Given the description of an element on the screen output the (x, y) to click on. 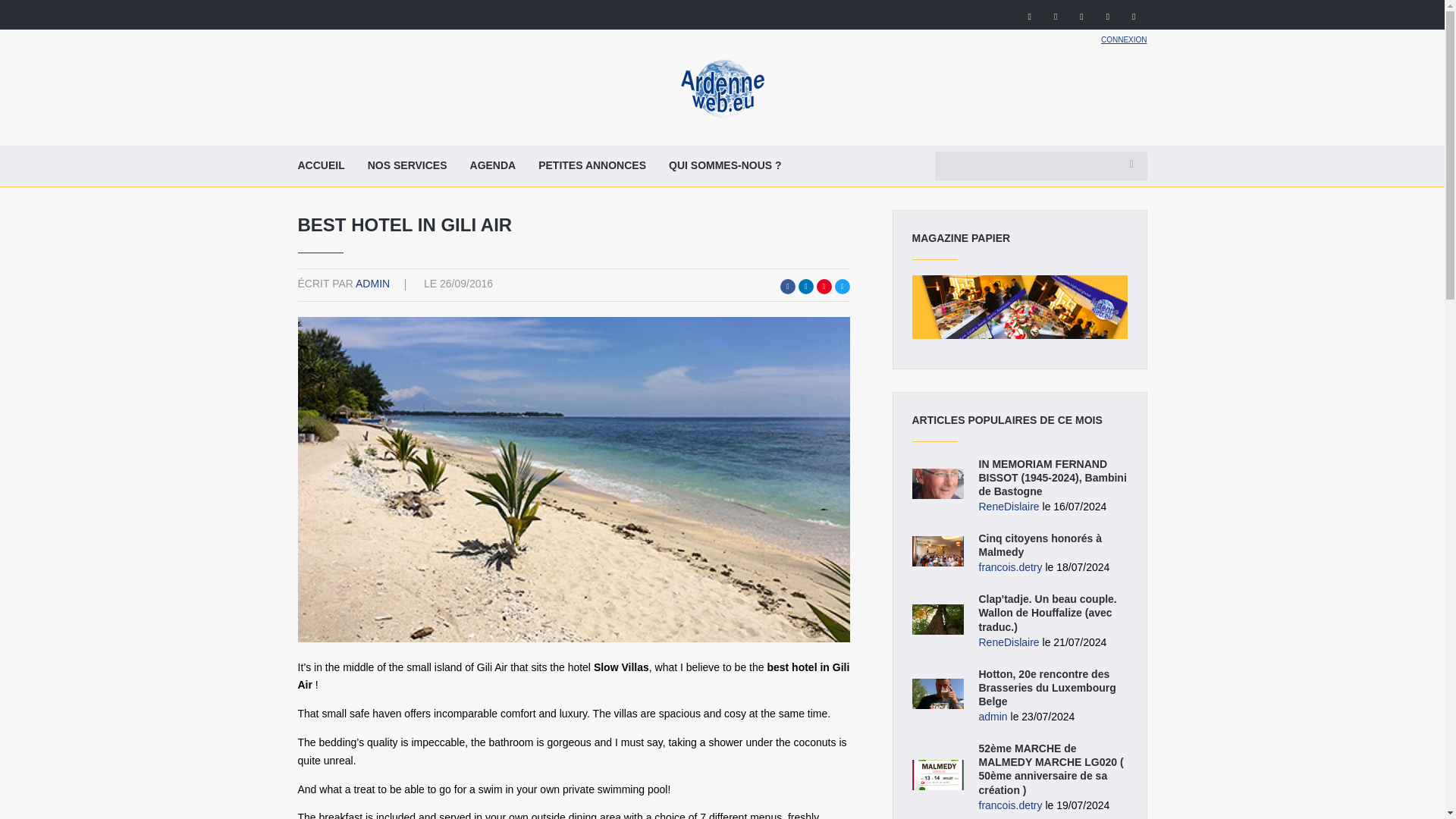
Share to Pinterest (823, 286)
NOS SERVICES (407, 165)
Appliquer (1131, 163)
Twitter (841, 286)
Facebook (1029, 16)
QUI SOMMES-NOUS ? (725, 165)
Facebook (787, 286)
Instagram (1080, 16)
ADMIN (372, 283)
Twitter (1055, 16)
